Given the description of an element on the screen output the (x, y) to click on. 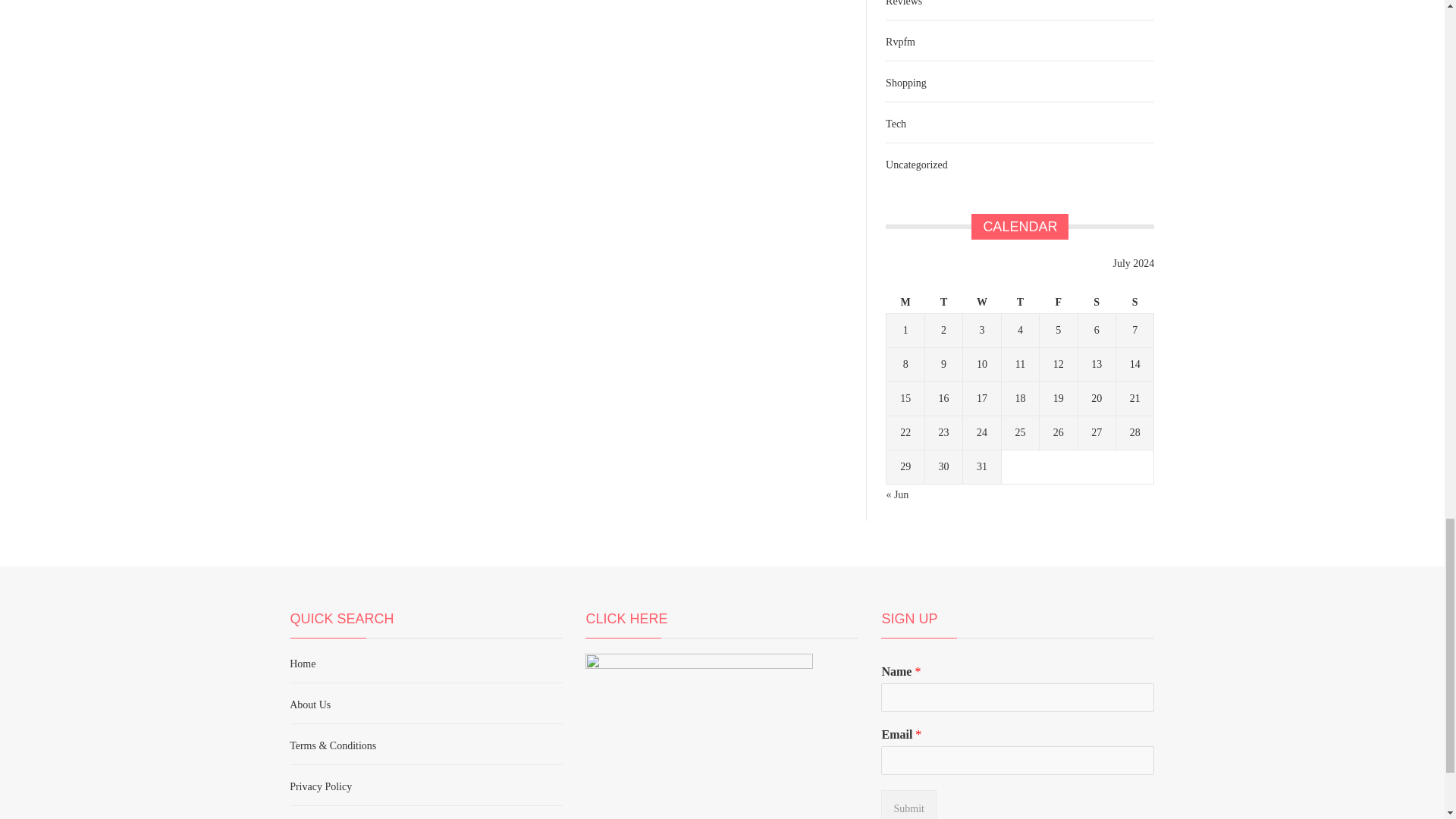
Friday (1058, 302)
Saturday (1096, 302)
Sunday (1134, 302)
Tuesday (943, 302)
Monday (905, 302)
Thursday (1020, 302)
Wednesday (981, 302)
